Given the description of an element on the screen output the (x, y) to click on. 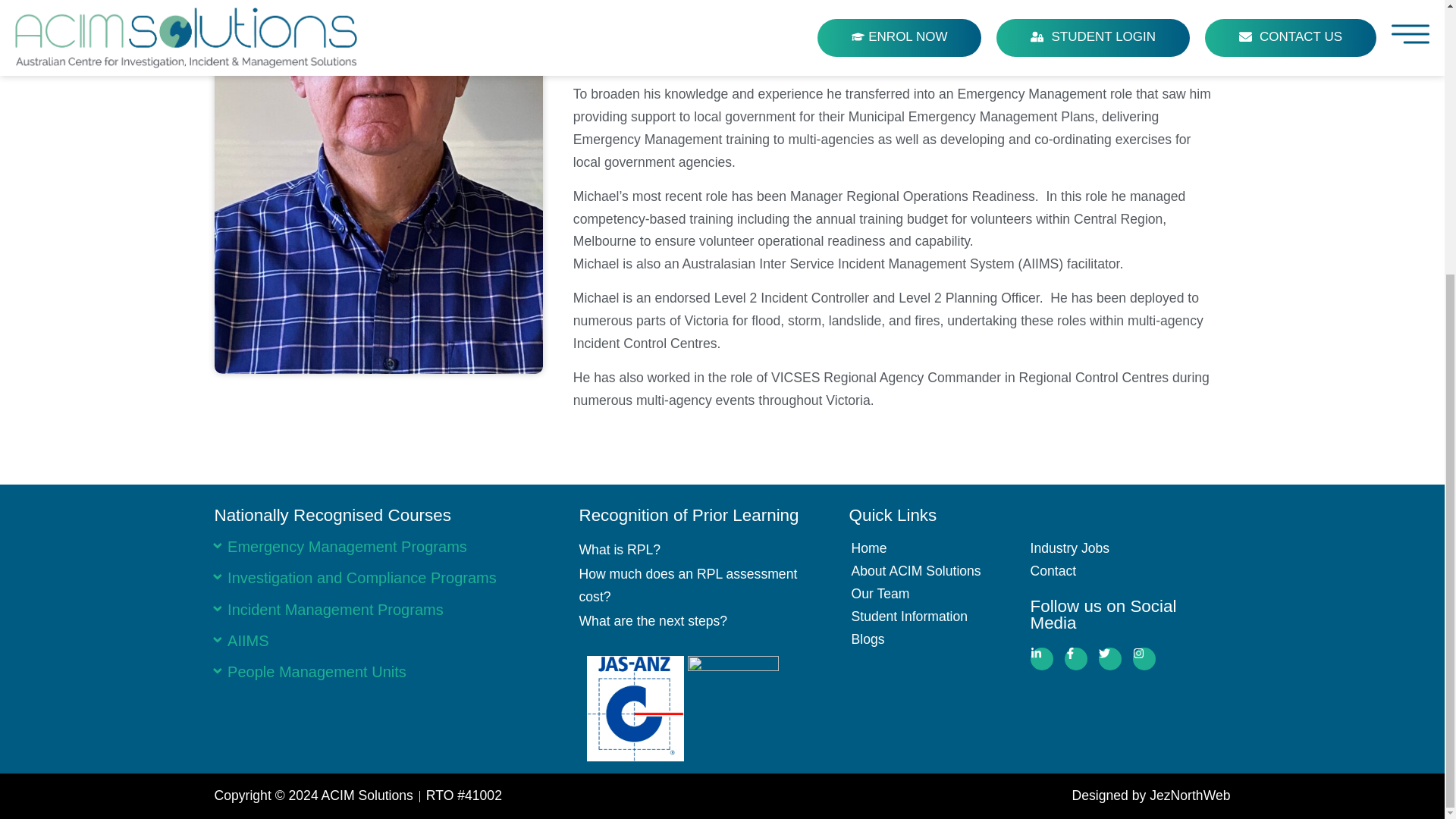
Investigation and Compliance Programs (361, 577)
AIIMS (247, 640)
Incident Management Programs (335, 609)
Emergency Management Programs (347, 546)
Web Design Northern River NSW (979, 795)
People Management Units (316, 671)
